Given the description of an element on the screen output the (x, y) to click on. 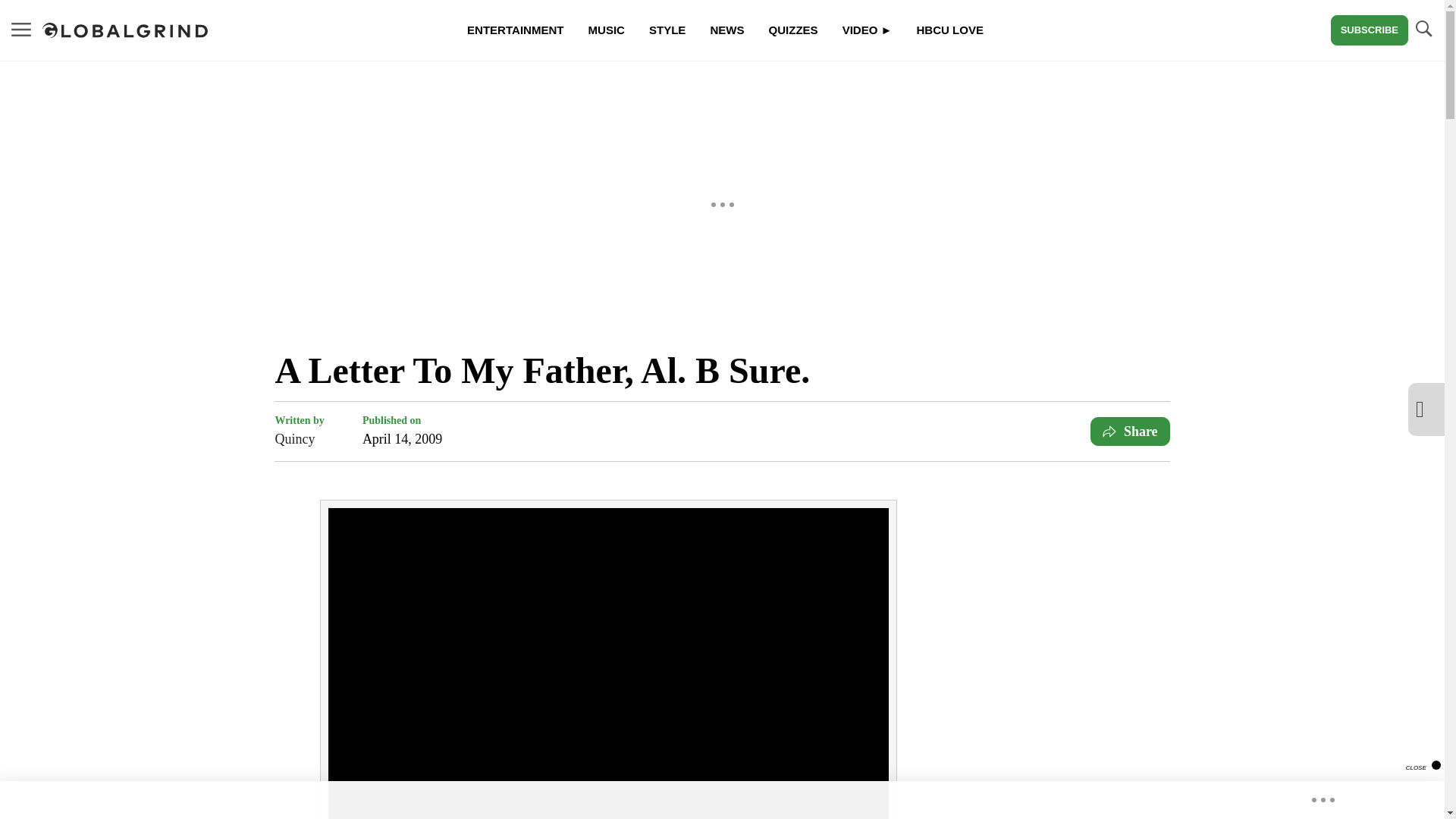
MUSIC (606, 30)
TOGGLE SEARCH (1422, 30)
TOGGLE SEARCH (1422, 28)
Share (1130, 430)
MENU (20, 29)
SUBSCRIBE (1368, 30)
ENTERTAINMENT (514, 30)
NEWS (726, 30)
STYLE (667, 30)
Quincy (299, 438)
